Given the description of an element on the screen output the (x, y) to click on. 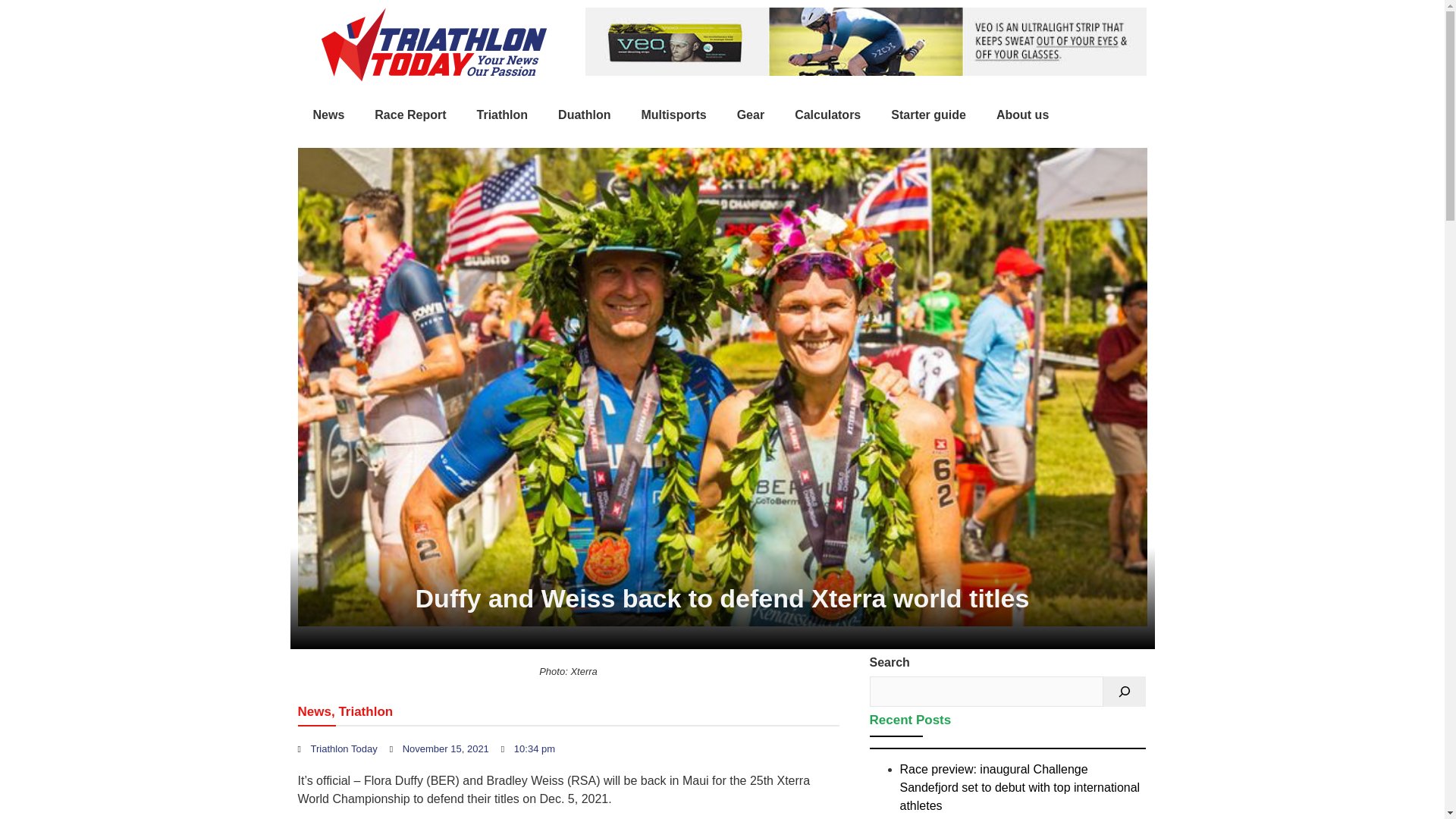
Triathlon Today (337, 749)
Triathlon (502, 114)
Race Report (410, 114)
Starter guide (928, 114)
News (328, 114)
Gear (750, 114)
November 15, 2021 (439, 749)
News (313, 711)
Duathlon (584, 114)
